Given the description of an element on the screen output the (x, y) to click on. 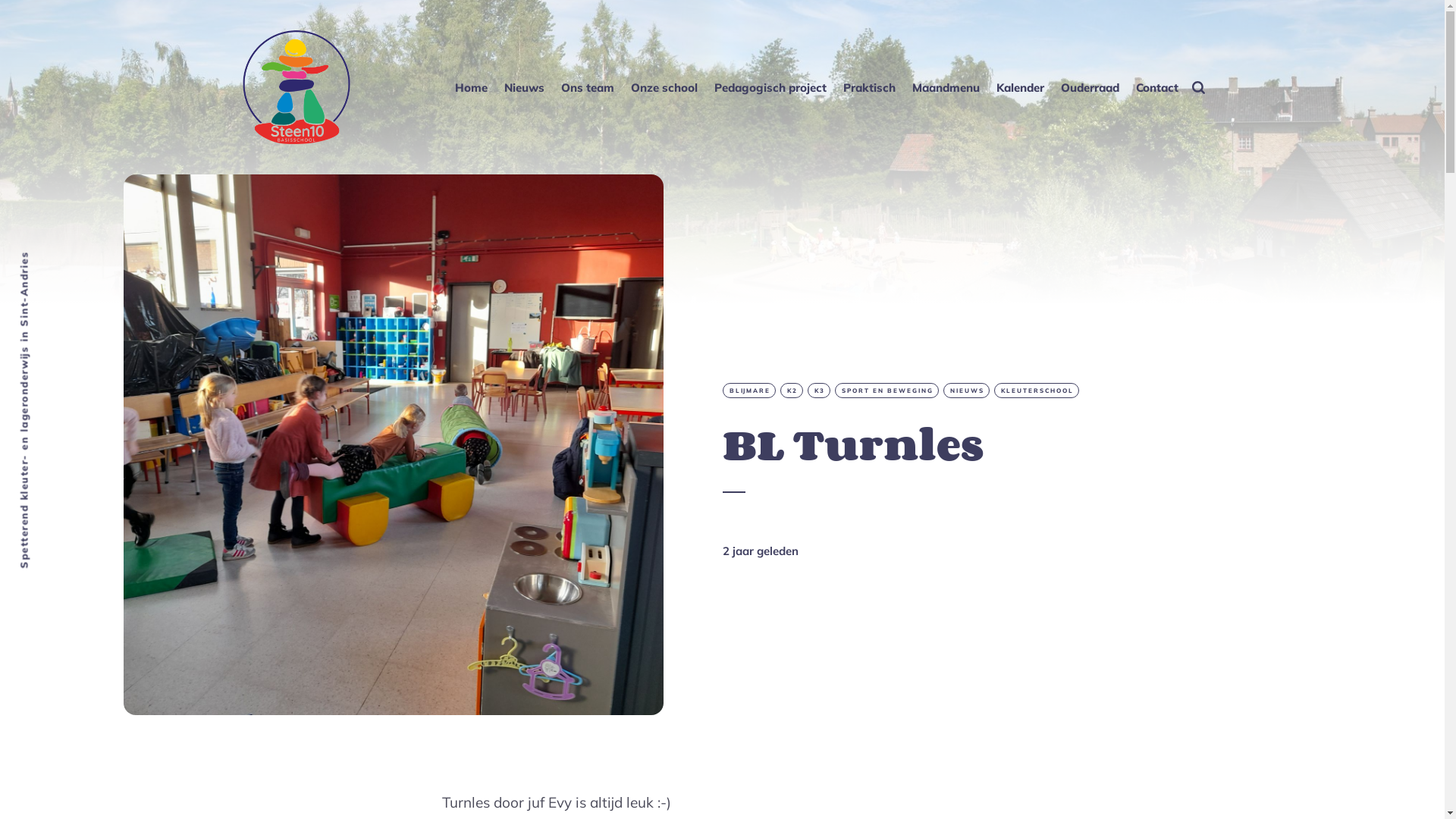
NIEUWS Element type: text (966, 390)
Home Element type: text (471, 86)
SPORT EN BEWEGING Element type: text (886, 390)
Kalender Element type: text (1019, 86)
Pedagogisch project Element type: text (770, 86)
Contact Element type: text (1156, 86)
K2 Element type: text (790, 390)
Ons team Element type: text (587, 86)
KLEUTERSCHOOL Element type: text (1035, 390)
Praktisch Element type: text (869, 86)
Maandmenu Element type: text (945, 86)
Nieuws Element type: text (524, 86)
Onze school Element type: text (664, 86)
BLIJMARE Element type: text (748, 390)
Ouderraad Element type: text (1089, 86)
K3 Element type: text (817, 390)
